Given the description of an element on the screen output the (x, y) to click on. 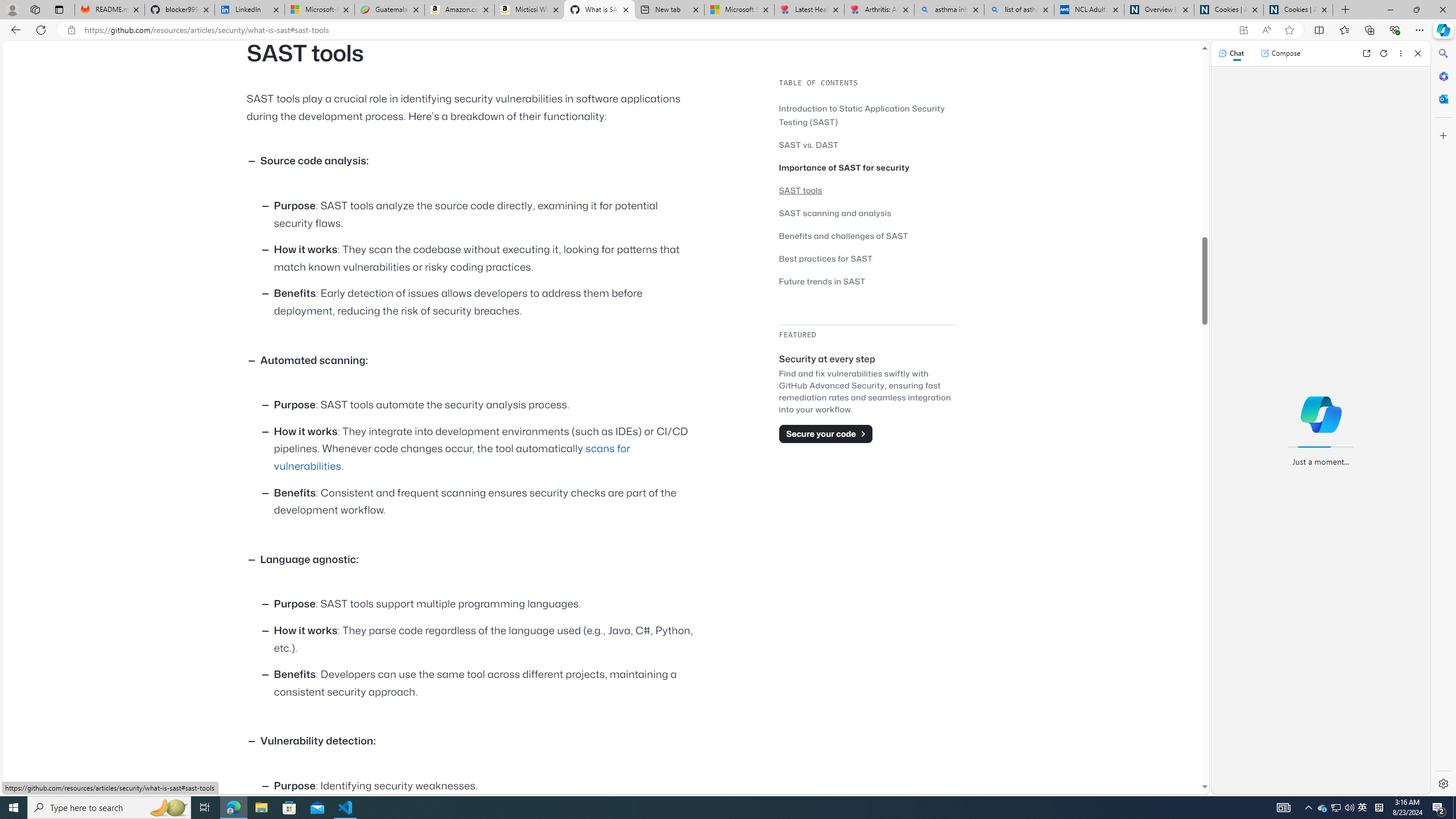
SAST vs. DAST (867, 144)
SAST scanning and analysis (867, 212)
Purpose: SAST tools support multiple programming languages. (485, 604)
Best practices for SAST (825, 258)
